Given the description of an element on the screen output the (x, y) to click on. 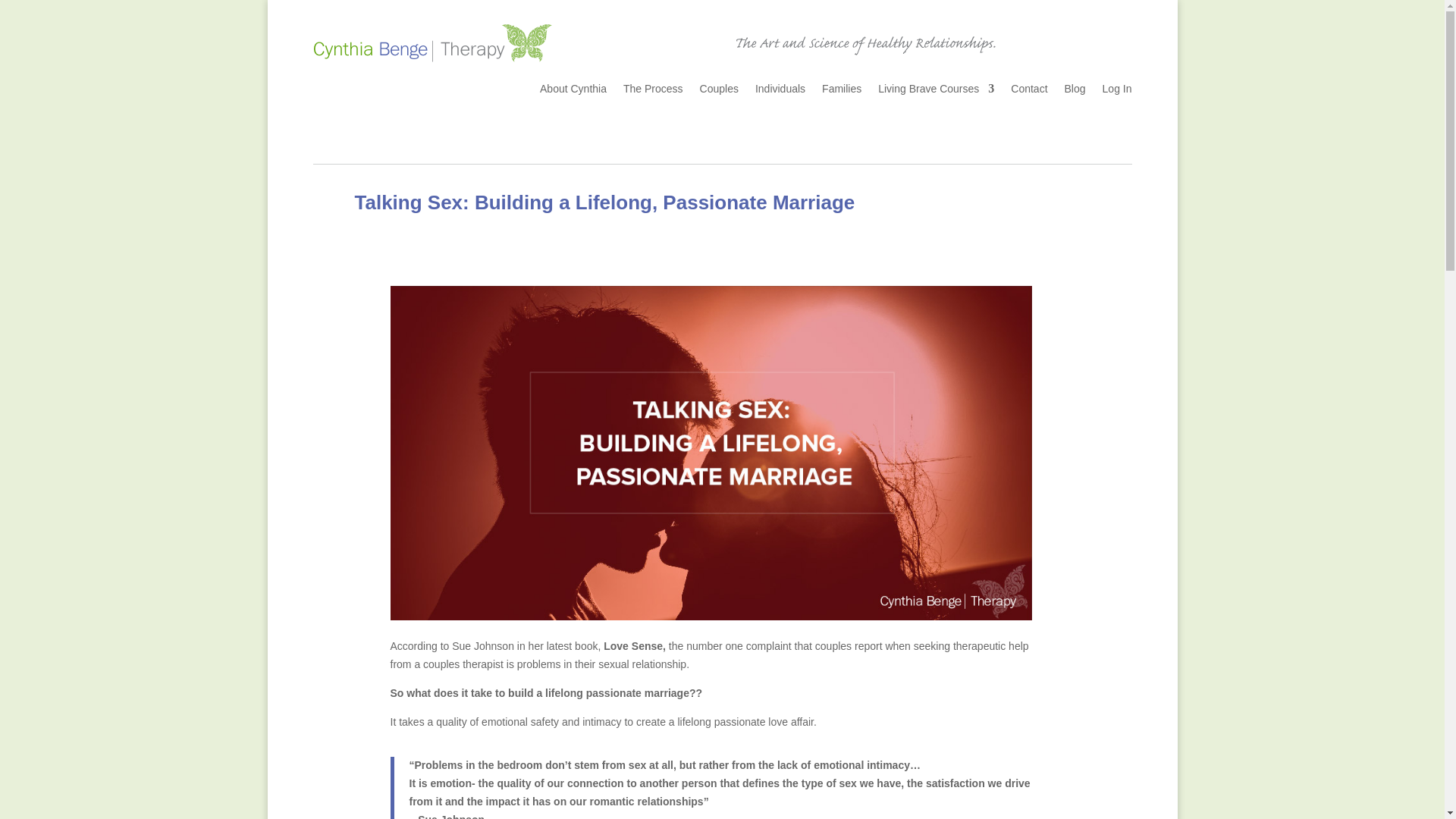
Individuals (780, 91)
Families (841, 91)
About Cynthia (573, 91)
Contact (1028, 91)
cythia-therapy-logo (432, 42)
Blog (1075, 91)
tagline-healthy-realtionships (865, 43)
Talking Sex: Building a Lifelong, Passionate Marriage (605, 201)
Living Brave Courses (935, 91)
The Process (652, 91)
